Given the description of an element on the screen output the (x, y) to click on. 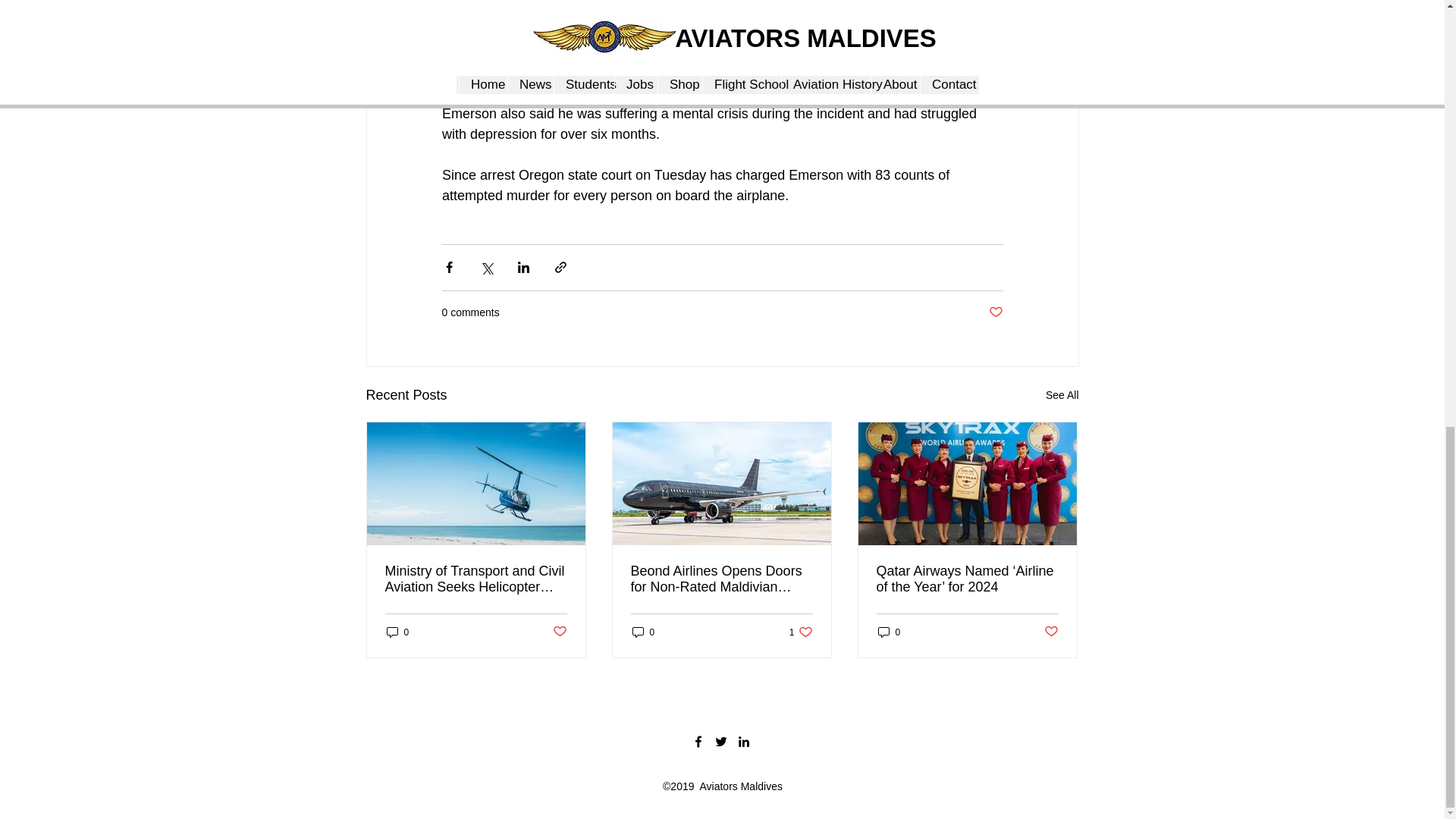
See All (1061, 395)
Post not marked as liked (558, 631)
Post not marked as liked (800, 631)
0 (995, 312)
0 (643, 631)
